Given the description of an element on the screen output the (x, y) to click on. 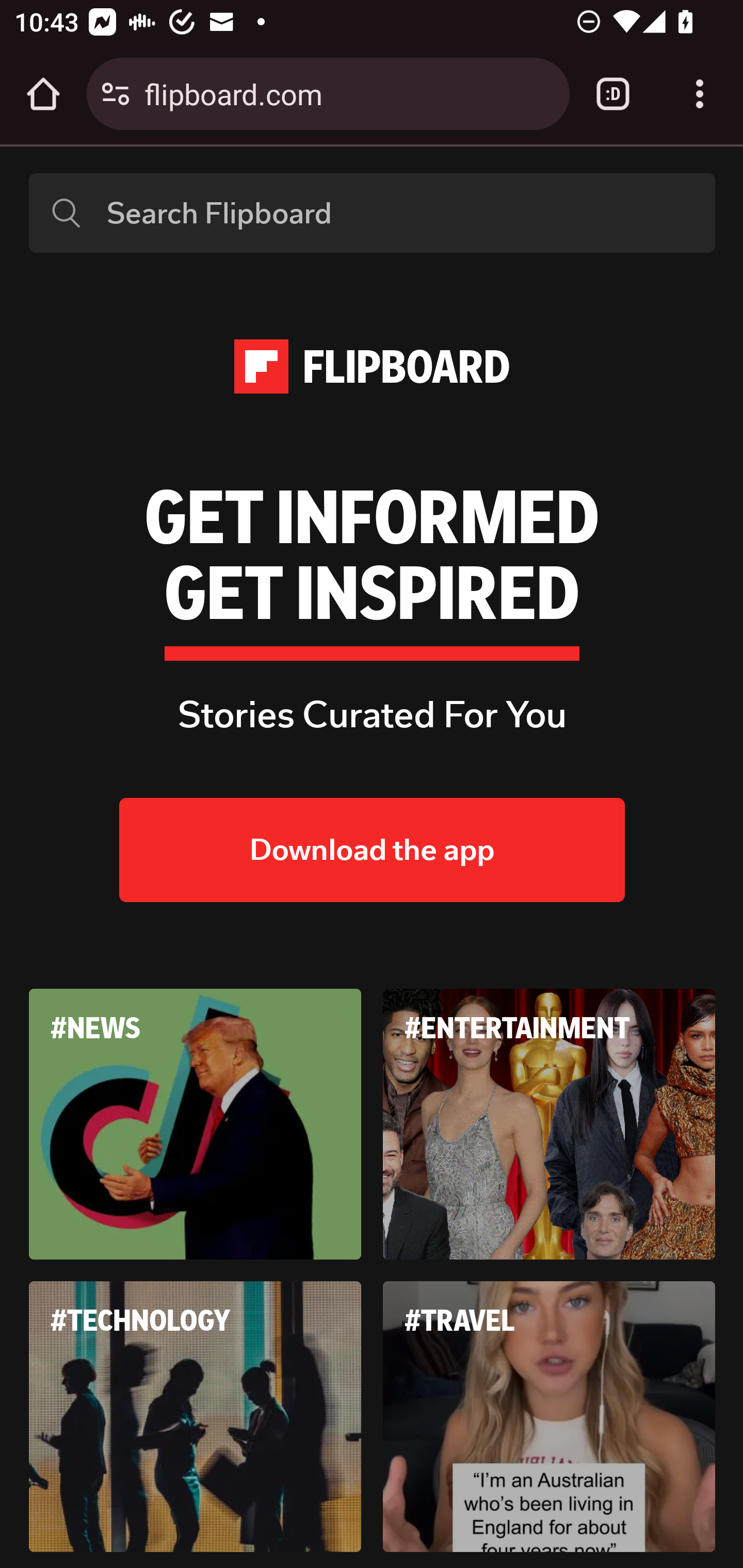
Open the home page (43, 93)
Connection is secure (115, 93)
Switch or close tabs (612, 93)
Customize and control Google Chrome (699, 93)
flipboard.com (349, 92)
Download the app (372, 850)
News - cover #NEWS News - cover #NEWS (195, 1123)
Travel - cover #TRAVEL Travel - cover #TRAVEL (549, 1415)
